Given the description of an element on the screen output the (x, y) to click on. 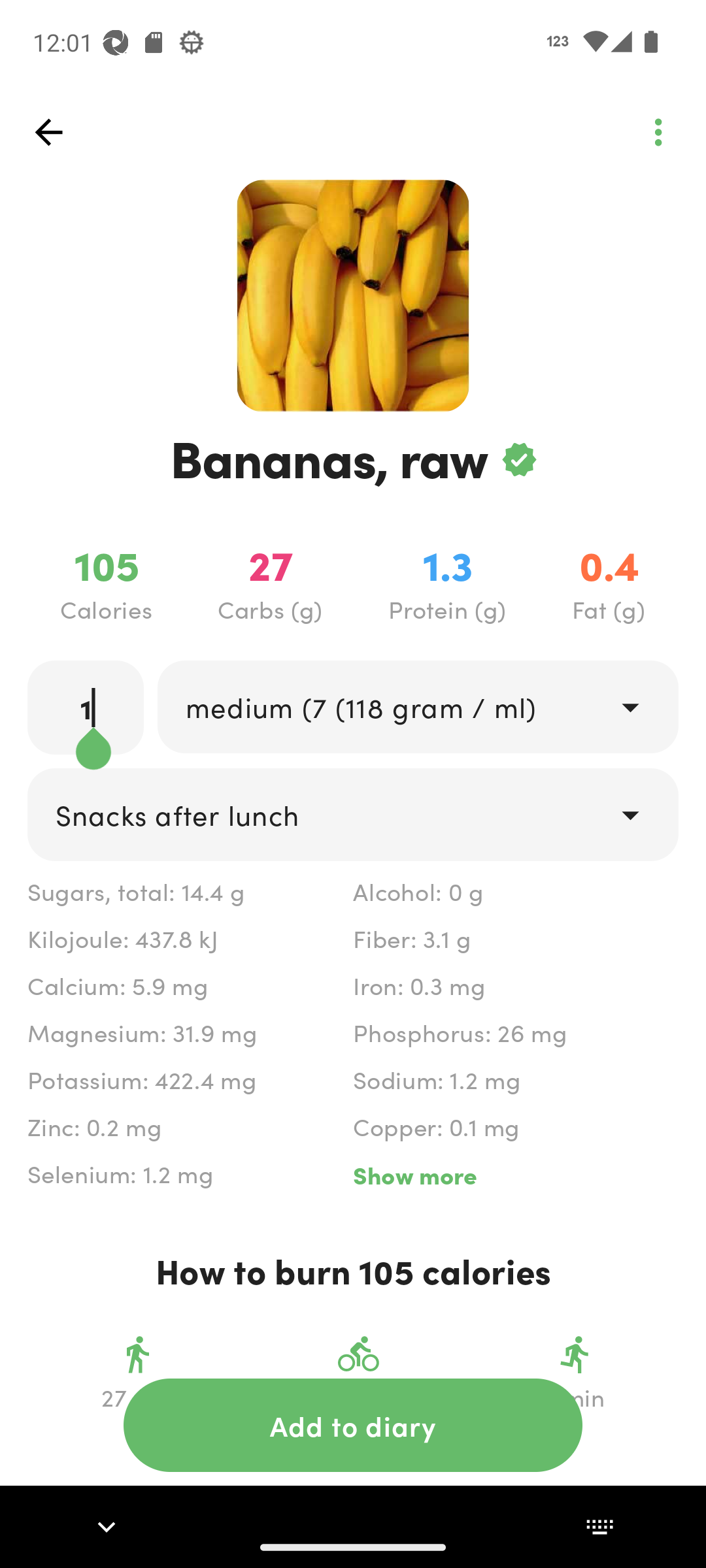
top_left_action (48, 132)
top_left_action (658, 132)
1 labeled_edit_text (85, 707)
drop_down medium (7 (118 gram / ml) (417, 706)
drop_down Snacks after lunch (352, 814)
Show more (515, 1174)
action_button Add to diary (352, 1425)
